Given the description of an element on the screen output the (x, y) to click on. 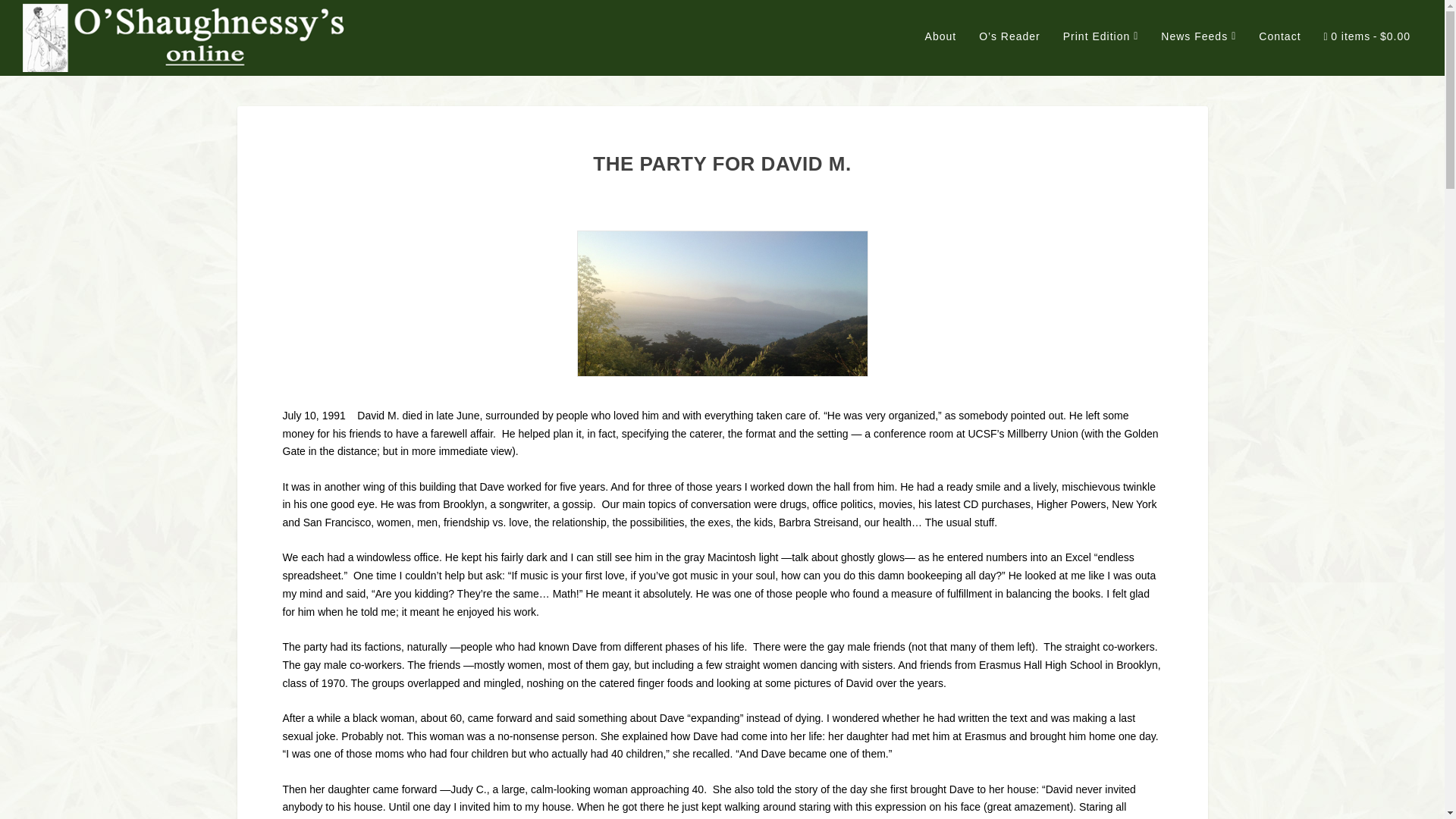
Print Edition (1100, 52)
Contact (1279, 52)
Start shopping (1366, 53)
News Feeds (1198, 52)
